Given the description of an element on the screen output the (x, y) to click on. 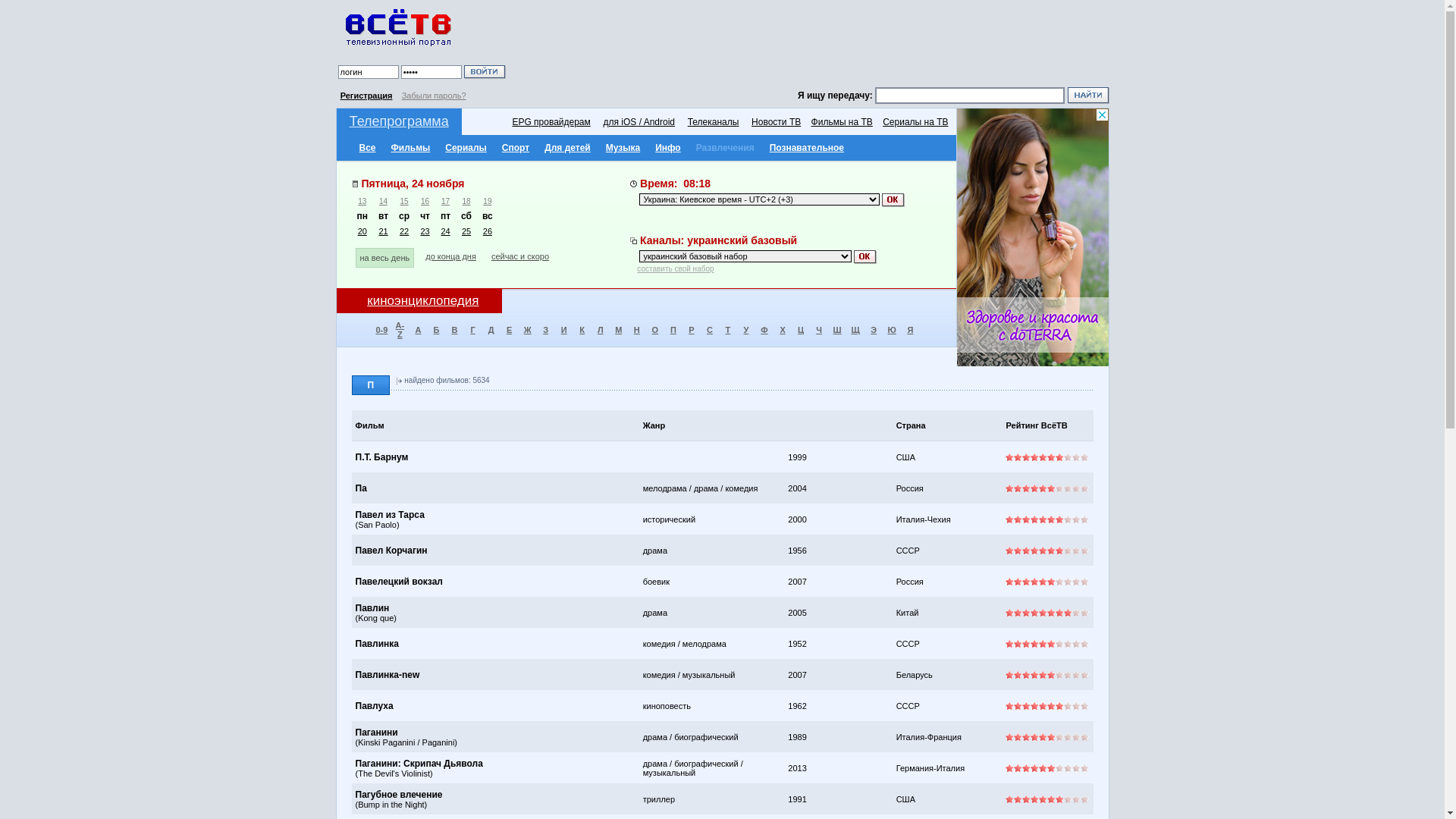
22 Element type: text (403, 230)
23 Element type: text (424, 230)
18 Element type: text (466, 201)
0-9 Element type: text (381, 329)
A-Z Element type: text (399, 329)
19 Element type: text (487, 201)
17 Element type: text (445, 201)
16 Element type: text (424, 201)
21 Element type: text (382, 230)
13 Element type: text (361, 201)
Advertisement Element type: hover (809, 45)
15 Element type: text (404, 201)
14 Element type: text (383, 201)
24 Element type: text (444, 230)
26 Element type: text (487, 230)
20 Element type: text (362, 230)
3rd party ad content Element type: hover (1032, 237)
25 Element type: text (465, 230)
